Given the description of an element on the screen output the (x, y) to click on. 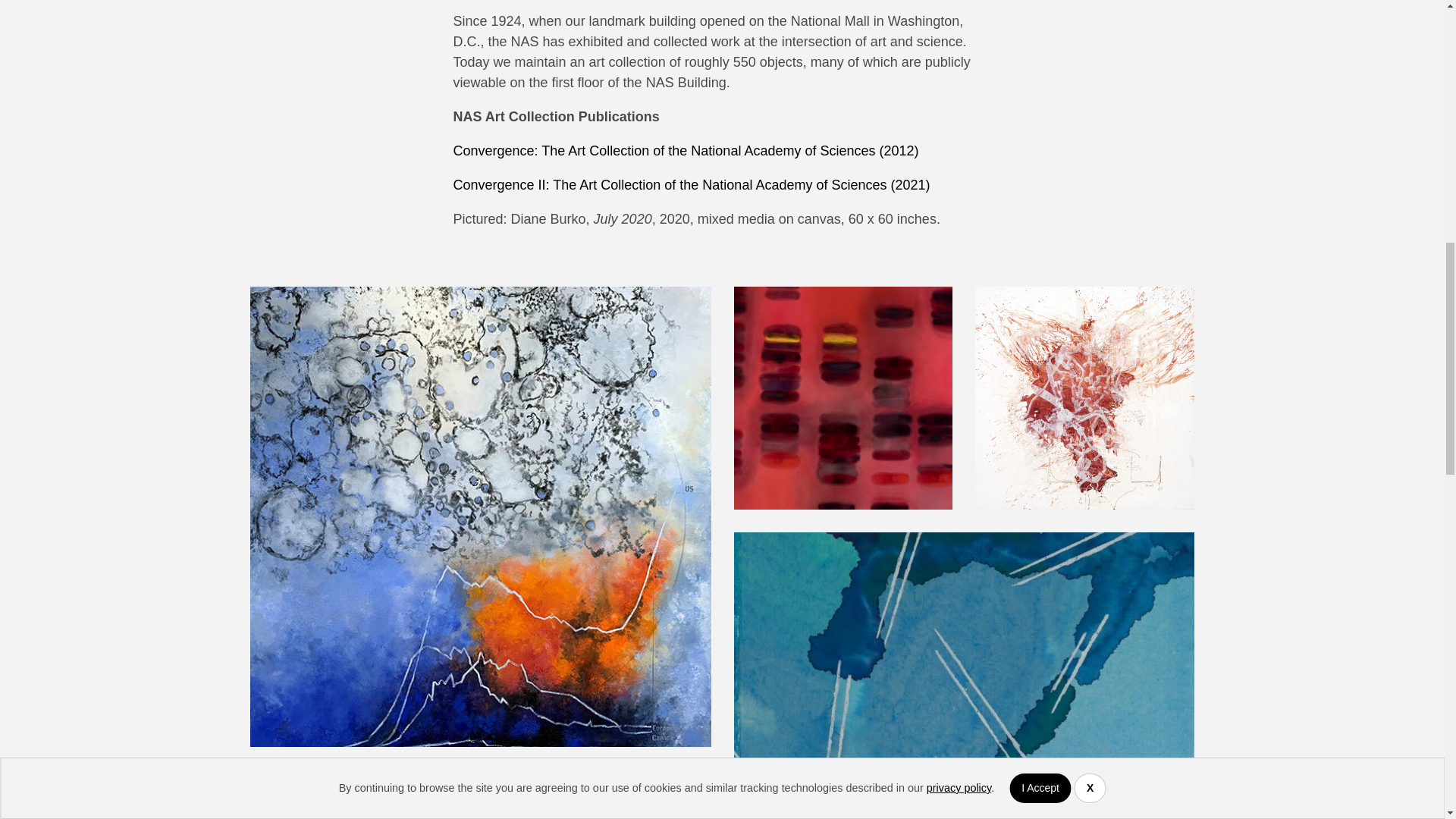
In The Wake With the Bones of Our Ancestors (964, 675)
Banner-Activities-CreativeEngage-CulturalPrograms (843, 397)
